Given the description of an element on the screen output the (x, y) to click on. 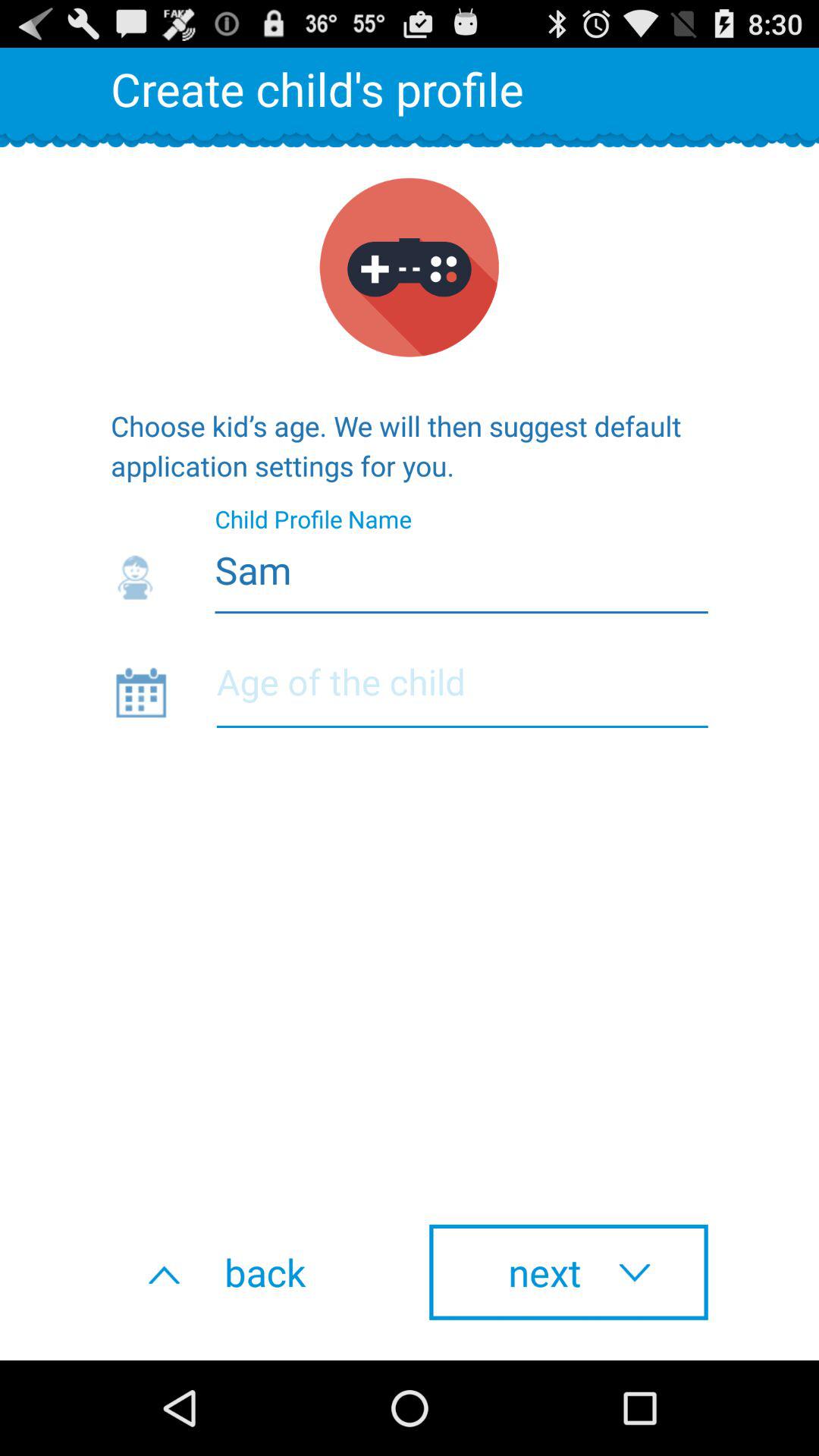
swipe until the back item (249, 1272)
